Given the description of an element on the screen output the (x, y) to click on. 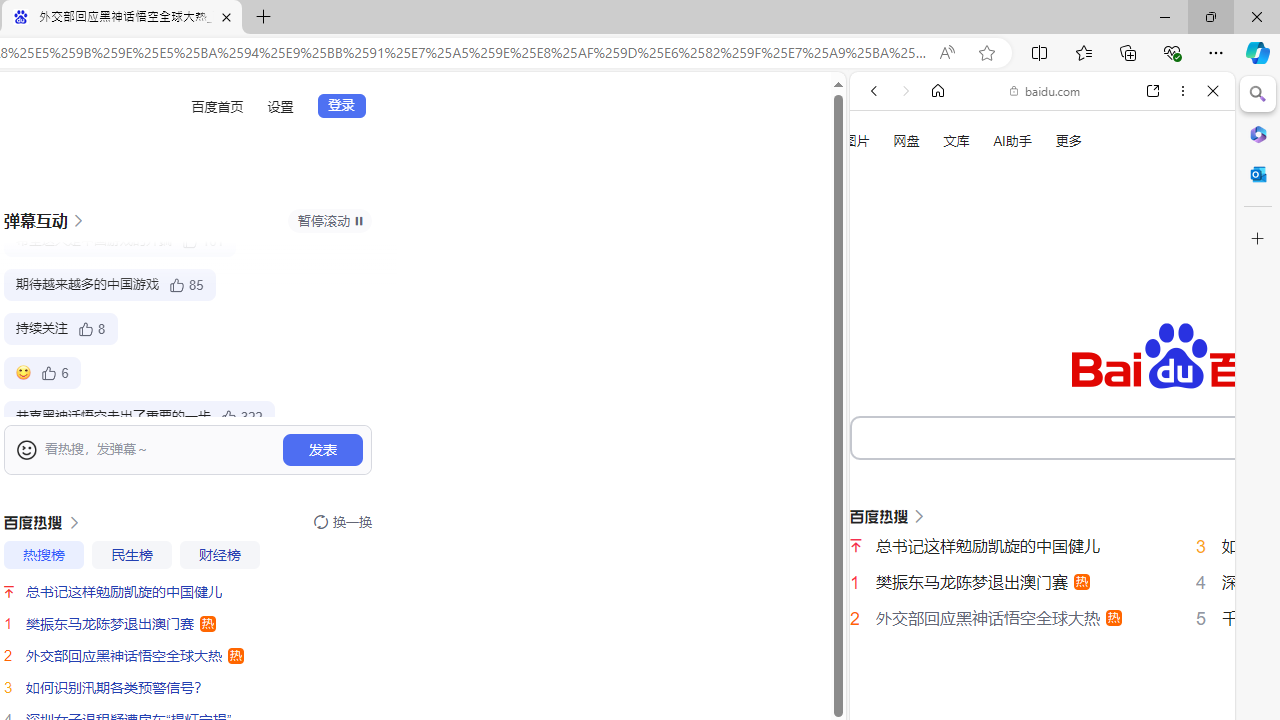
Browser essentials (1171, 52)
Search Filter, VIDEOS (1006, 339)
Copilot (Ctrl+Shift+.) (1258, 52)
Class: b_serphb (1190, 339)
To get missing image descriptions, open the context menu. (882, 228)
VIDEOS (1006, 339)
Settings and more (Alt+F) (1215, 52)
Forward (906, 91)
